Given the description of an element on the screen output the (x, y) to click on. 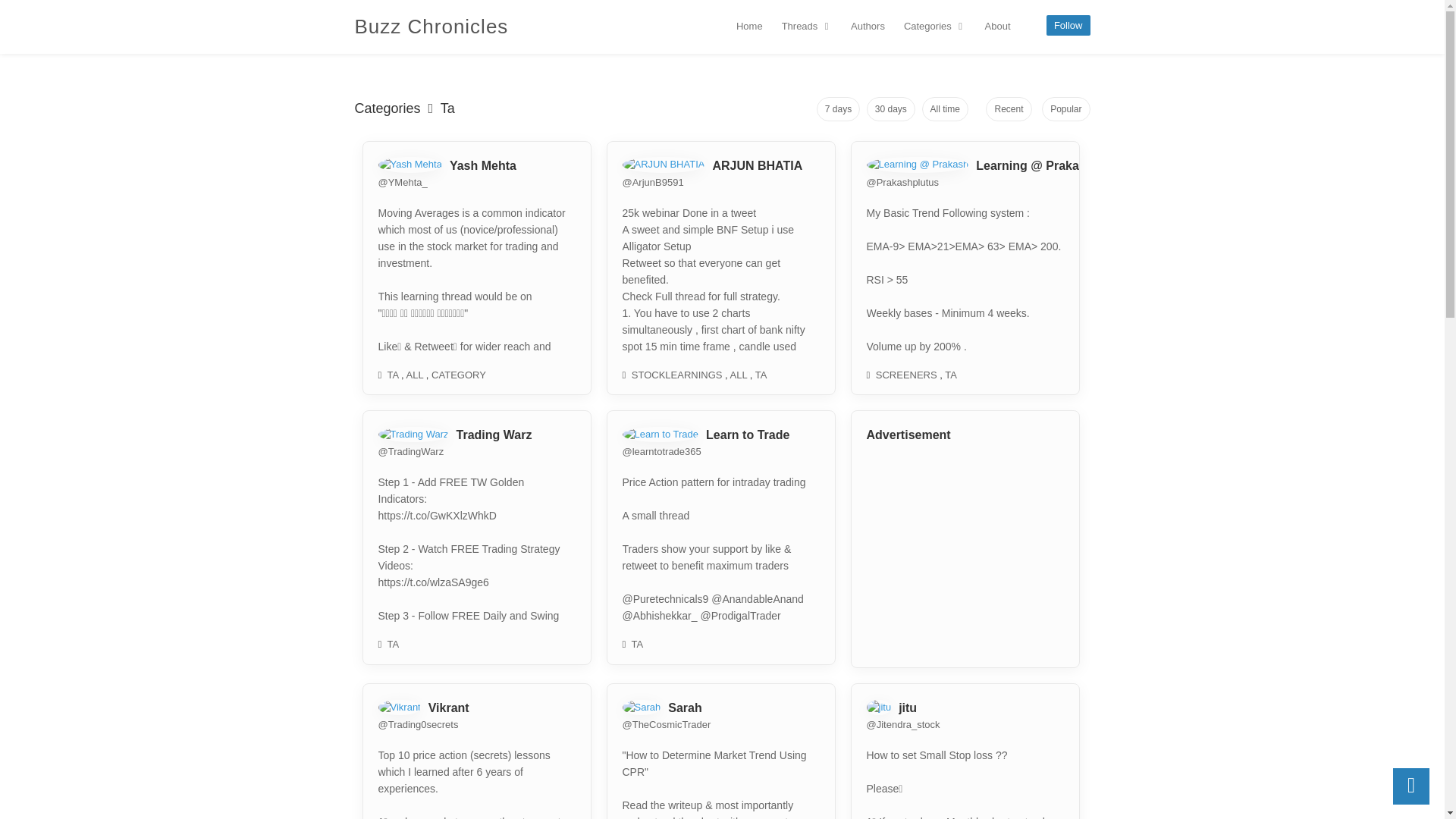
TA (761, 374)
Categories (935, 26)
TA (950, 374)
ALL (739, 374)
Buzz Chronicles (431, 26)
Yash Mehta (482, 164)
ARJUN BHATIA (756, 164)
CATEGORY (458, 374)
TA (392, 374)
Follow (1064, 26)
Threads (807, 26)
SCREENERS (906, 374)
STOCKLEARNINGS (676, 374)
Authors (867, 26)
About (996, 26)
